Given the description of an element on the screen output the (x, y) to click on. 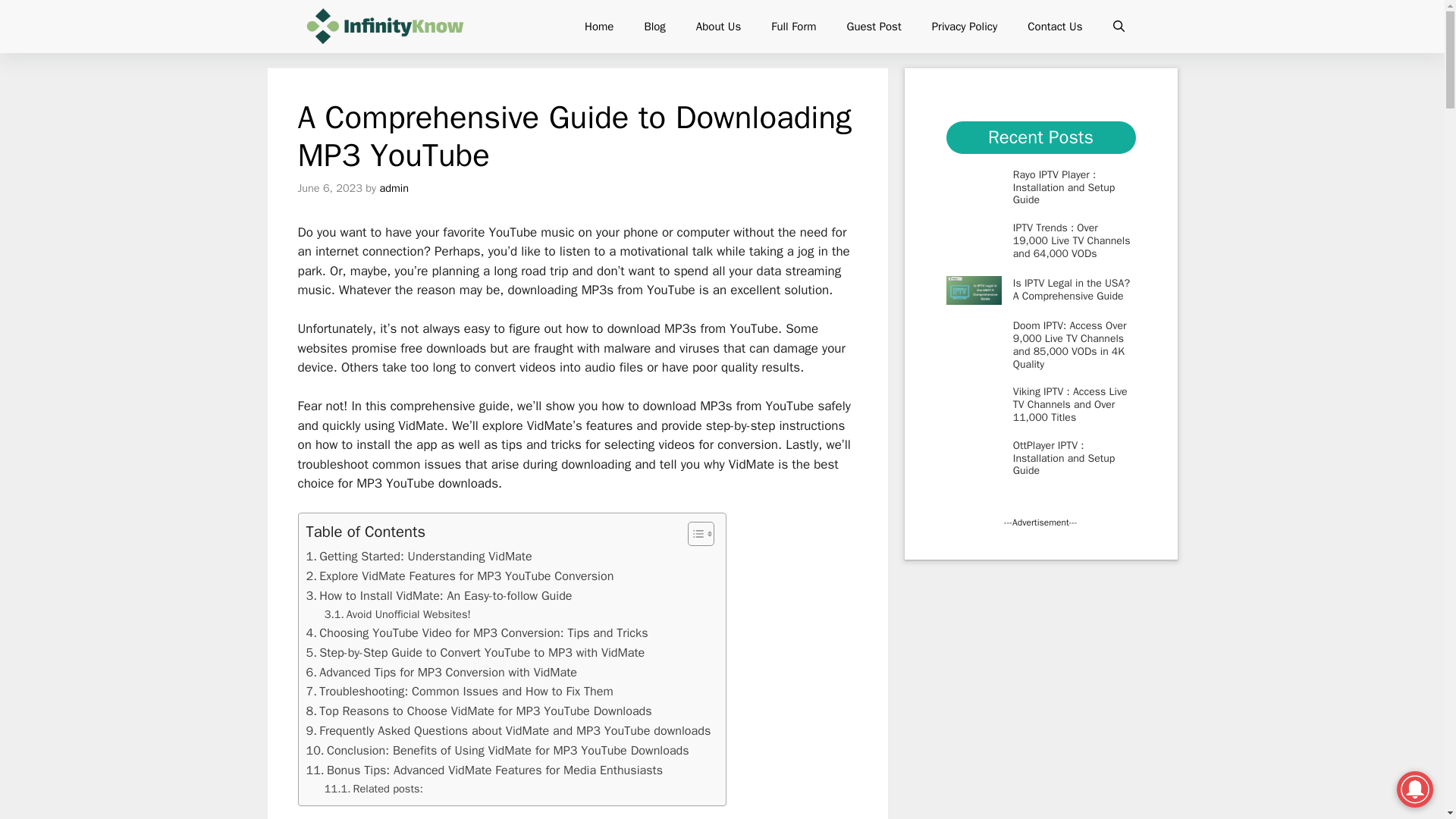
Step-by-Step Guide to Convert YouTube to MP3 with VidMate (475, 652)
Step-by-Step Guide to Convert YouTube to MP3 with VidMate (475, 652)
Troubleshooting: Common Issues and How to Fix Them (458, 691)
Top Reasons to Choose VidMate for MP3 YouTube Downloads (478, 711)
Getting Started: Understanding VidMate (418, 556)
Explore VidMate Features for MP3 YouTube Conversion (459, 576)
Home (598, 26)
View all posts by admin (393, 187)
InfinityKnow (384, 26)
Choosing YouTube Video for MP3 Conversion: Tips and Tricks (476, 632)
